Given the description of an element on the screen output the (x, y) to click on. 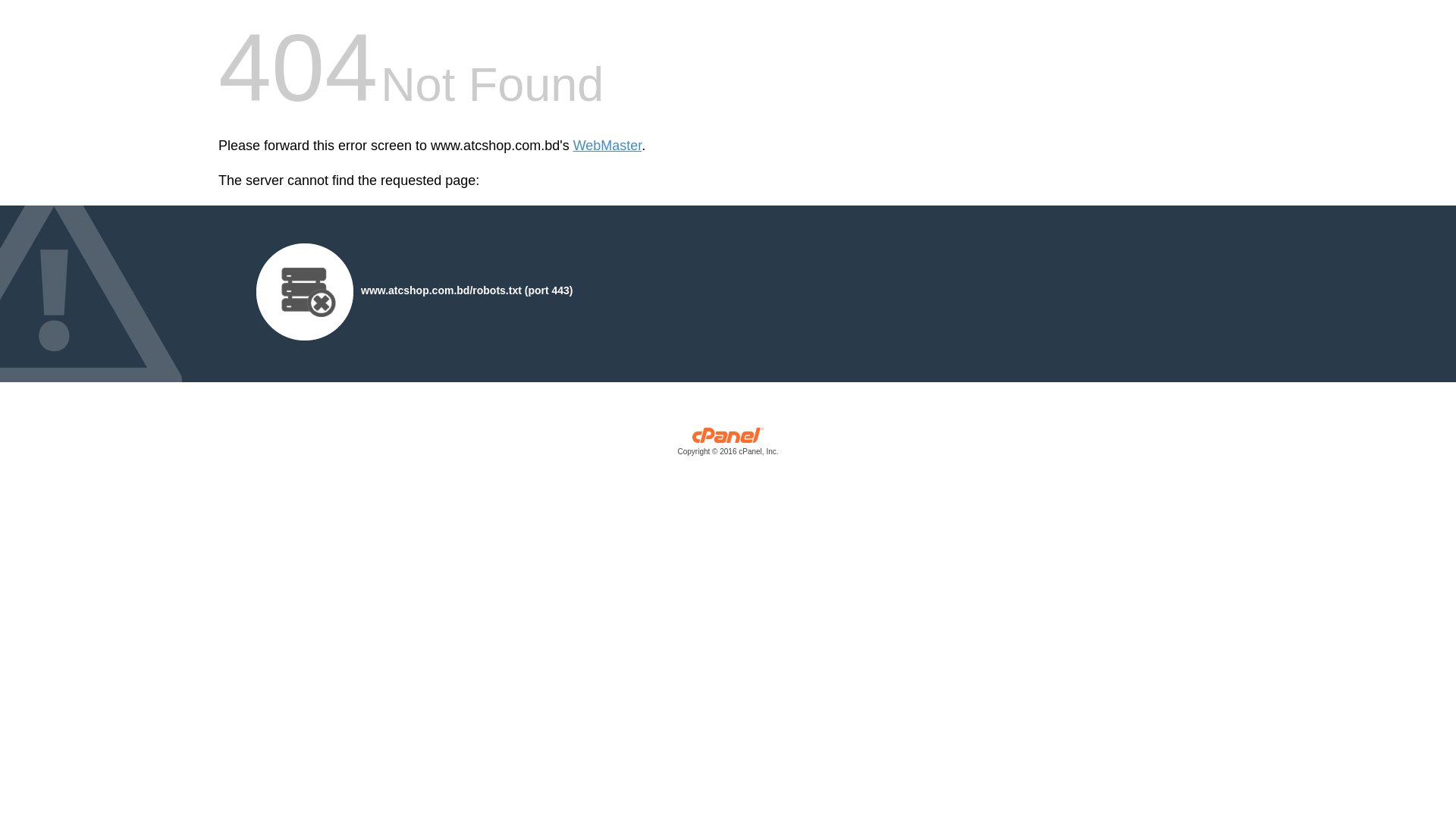
WebMaster Element type: text (607, 145)
